Given the description of an element on the screen output the (x, y) to click on. 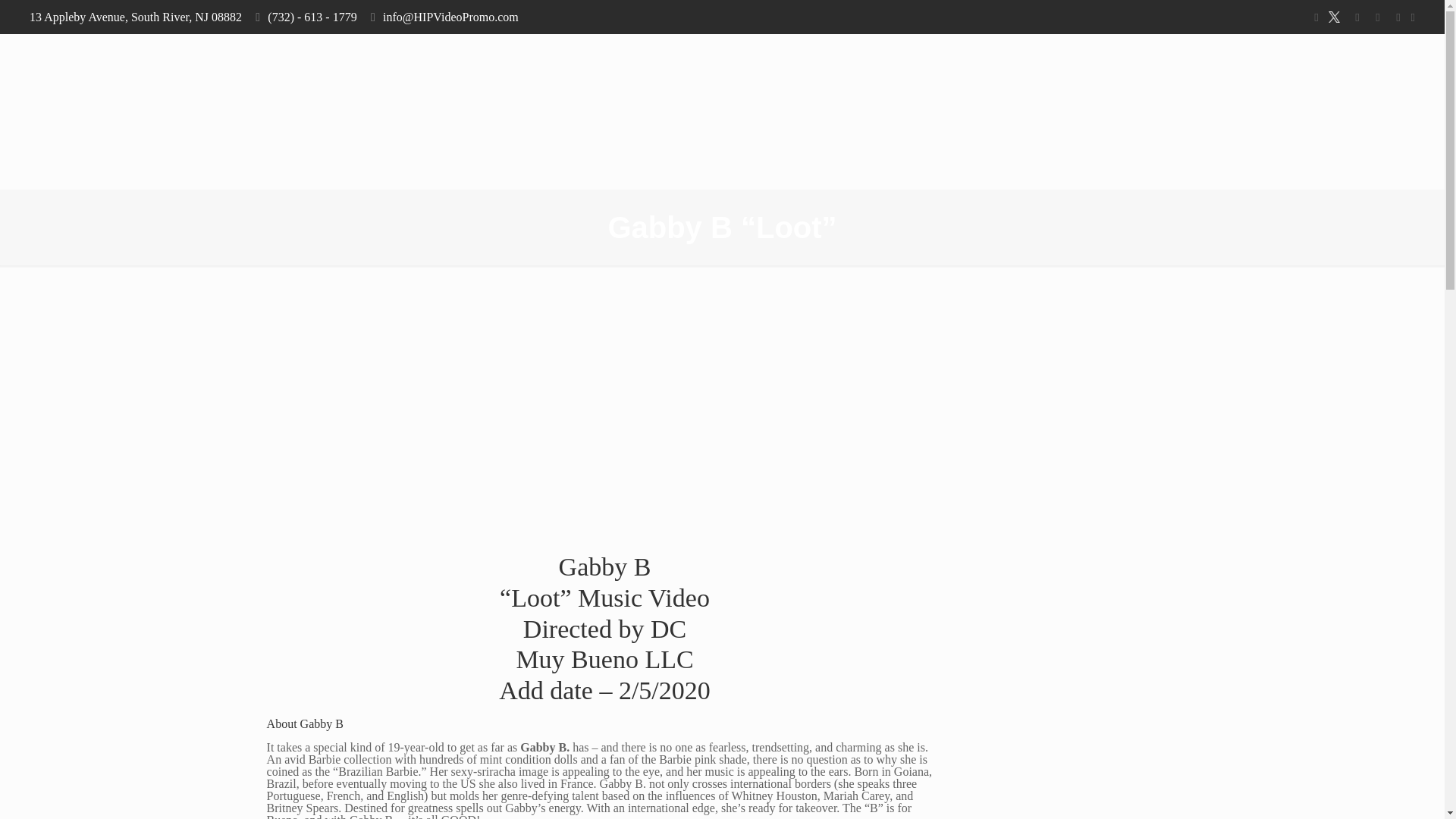
Facebook (1315, 17)
Instagram (1378, 17)
Spotify (1398, 17)
Twitter (1335, 17)
YouTube (1357, 17)
13 Appleby Avenue, South River, NJ 08882 (135, 16)
